Given the description of an element on the screen output the (x, y) to click on. 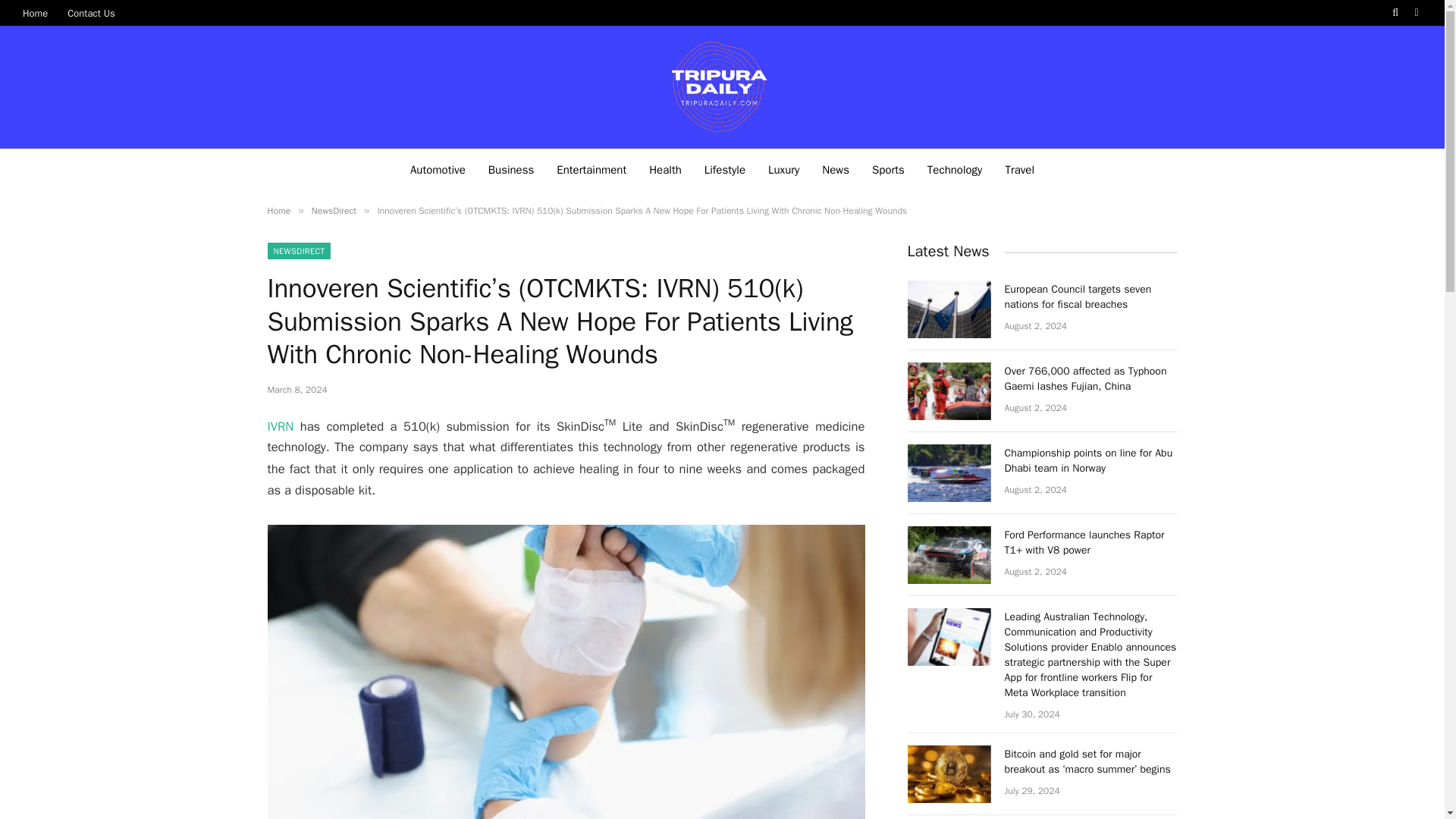
Travel (1018, 169)
Tripura Daily (721, 86)
Health (665, 169)
Lifestyle (725, 169)
Home (277, 210)
Entertainment (590, 169)
NewsDirect (333, 210)
Switch to Dark Design - easier on eyes. (1414, 12)
NEWSDIRECT (298, 250)
Business (511, 169)
Automotive (437, 169)
Home (35, 12)
Sports (887, 169)
Contact Us (91, 12)
News (835, 169)
